Given the description of an element on the screen output the (x, y) to click on. 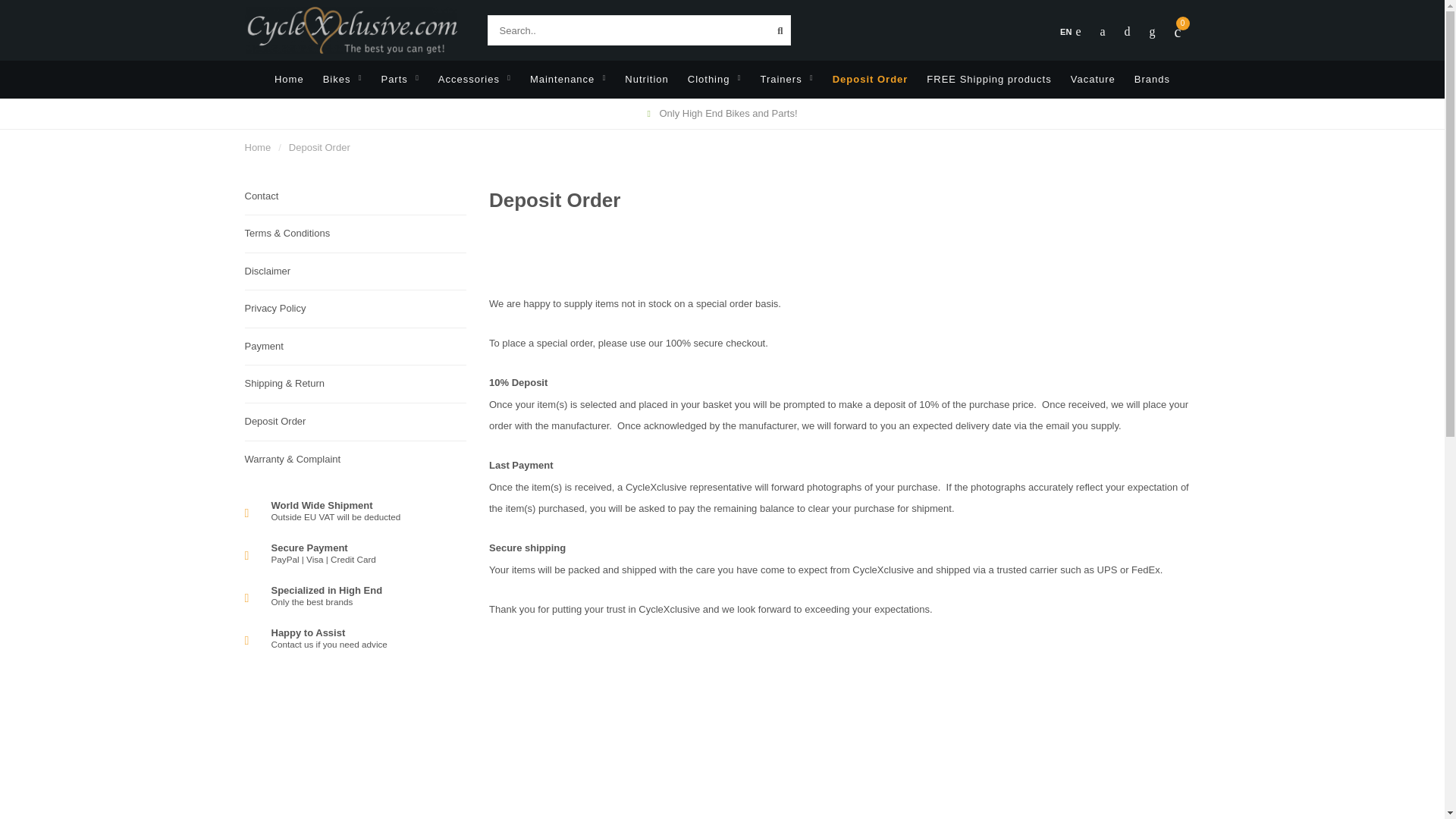
Home (257, 147)
Compare (1153, 31)
Parts (399, 79)
Home (289, 79)
My account (1102, 31)
EN (1069, 31)
0 (1177, 32)
Bikes (342, 79)
Wishlist (1127, 31)
Accessories (474, 79)
